Given the description of an element on the screen output the (x, y) to click on. 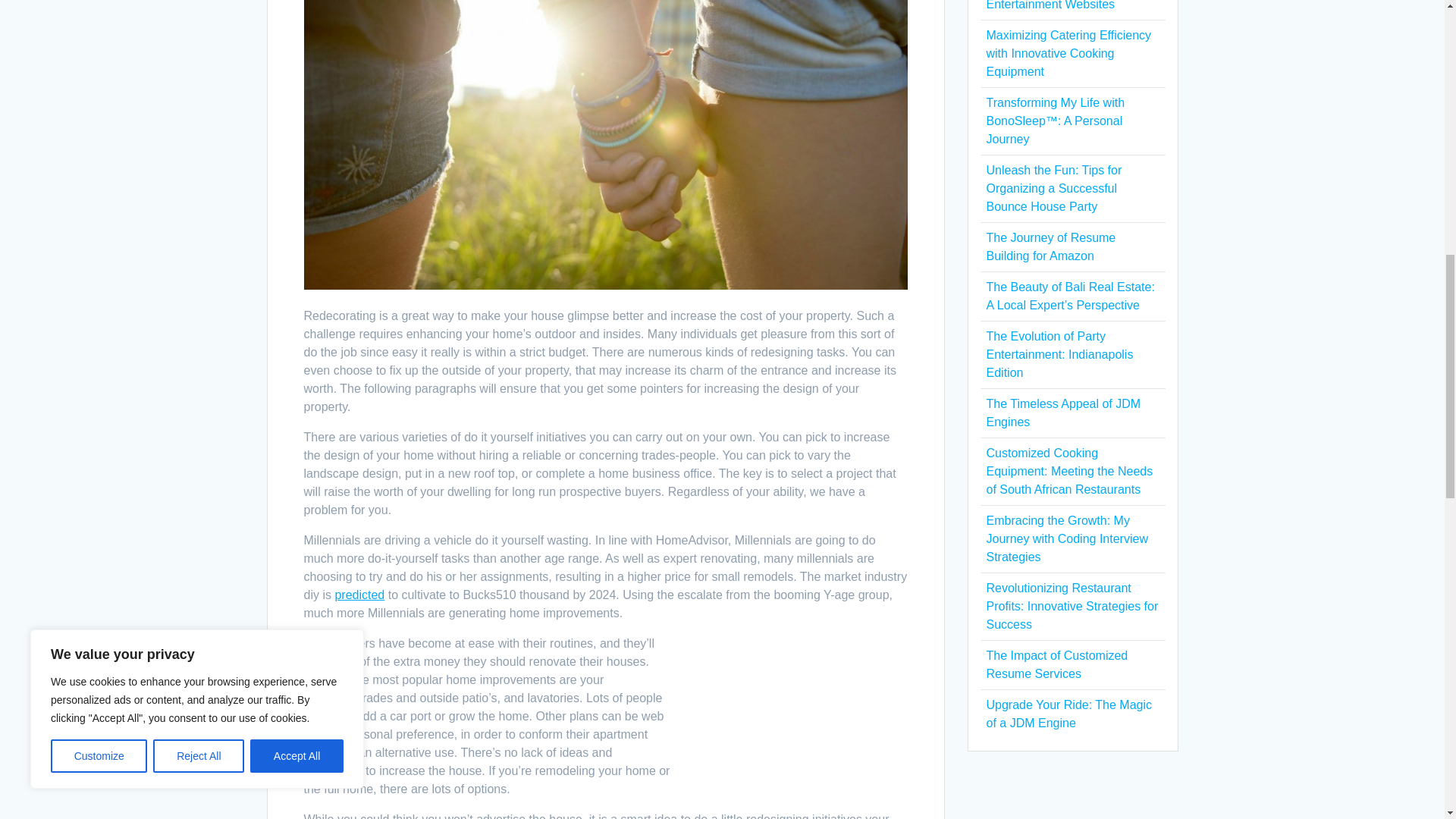
Maximizing SEO for Entertainment Websites (1050, 5)
predicted (359, 594)
The Journey of Resume Building for Amazon (1050, 246)
